Given the description of an element on the screen output the (x, y) to click on. 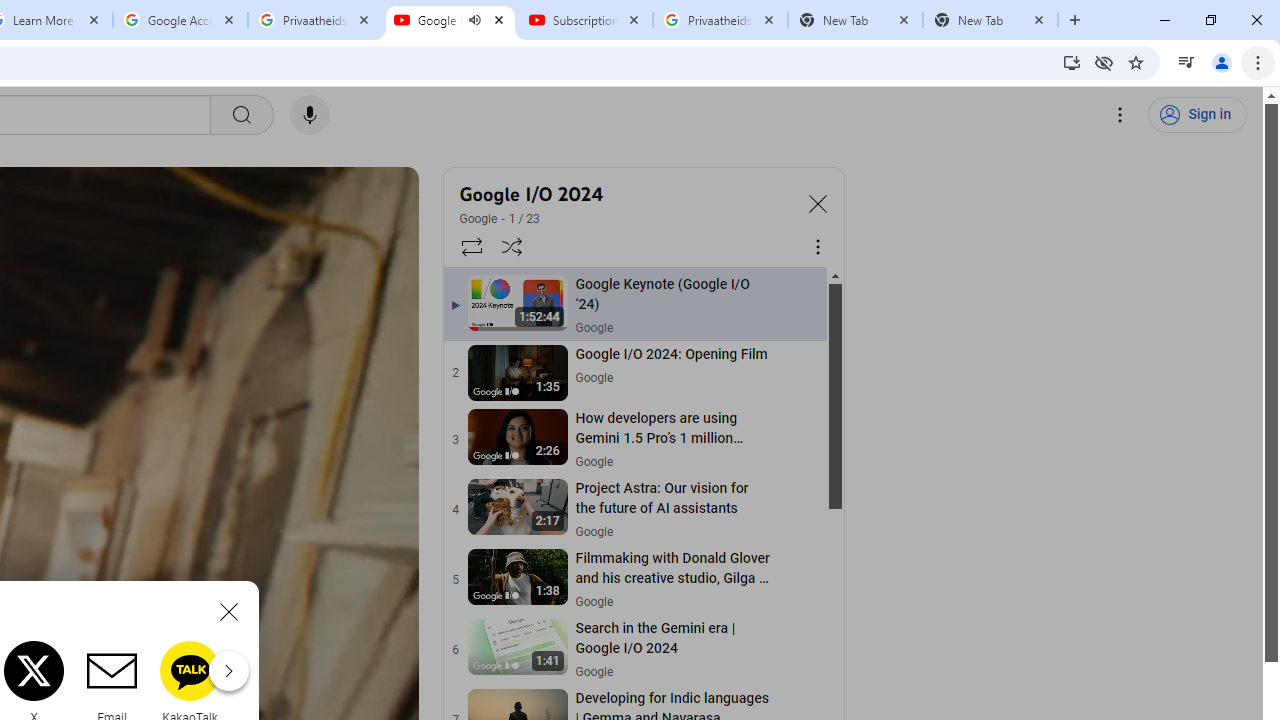
Search with your voice (309, 115)
Install YouTube (1071, 62)
Loop playlist (470, 246)
Google I/O 2024 (625, 194)
